Given the description of an element on the screen output the (x, y) to click on. 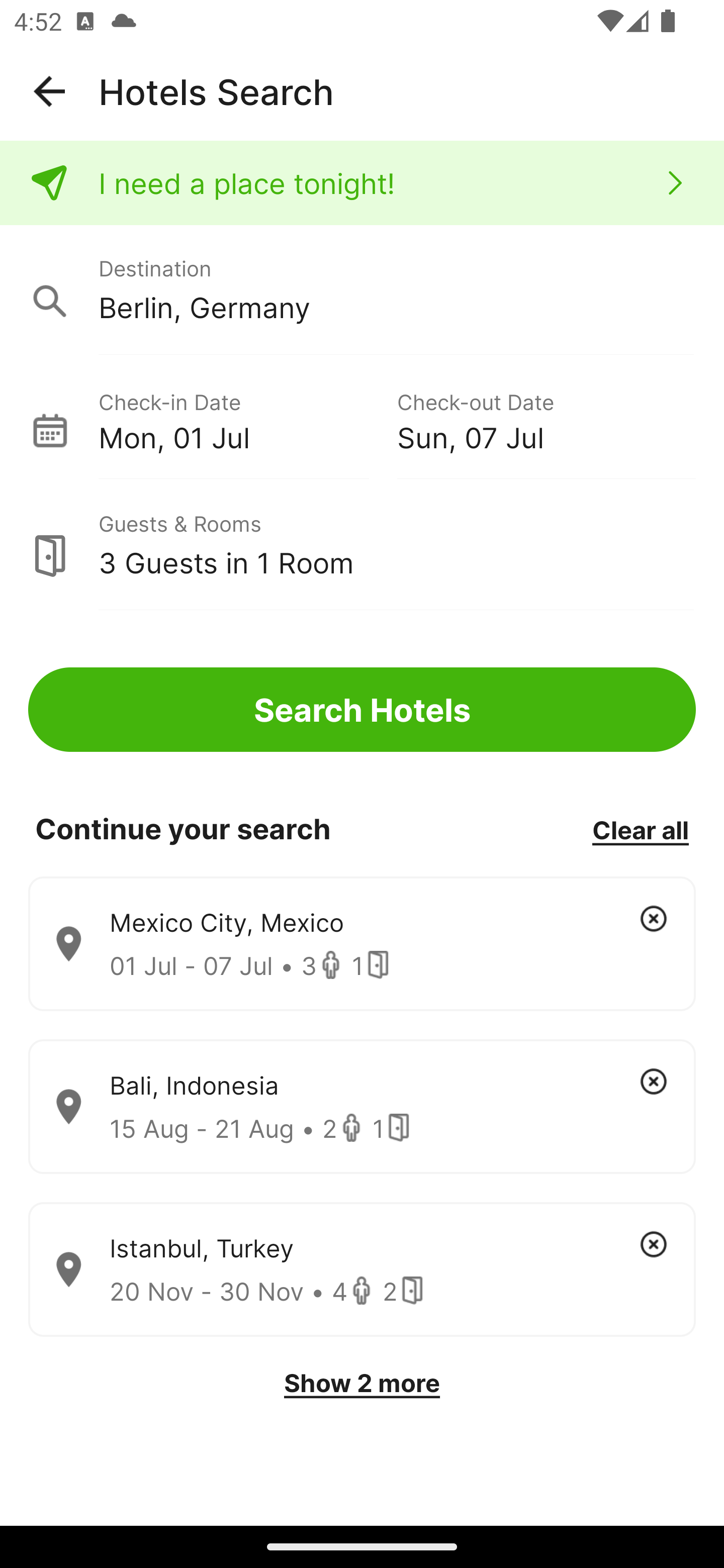
I need a place tonight! (362, 183)
Destination Berlin, Germany (362, 290)
Check-in Date Mon, 01 Jul (247, 418)
Check-out Date Sun, 07 Jul (546, 418)
Guests & Rooms 3 Guests in 1 Room (362, 545)
Search Hotels (361, 709)
Clear all (640, 829)
Mexico City, Mexico 01 Jul - 07 Jul • 3  1  (361, 943)
Bali, Indonesia 15 Aug - 21 Aug • 2  1  (361, 1106)
Istanbul, Turkey 20 Nov - 30 Nov • 4  2  (361, 1269)
Show 2 more (362, 1382)
